Given the description of an element on the screen output the (x, y) to click on. 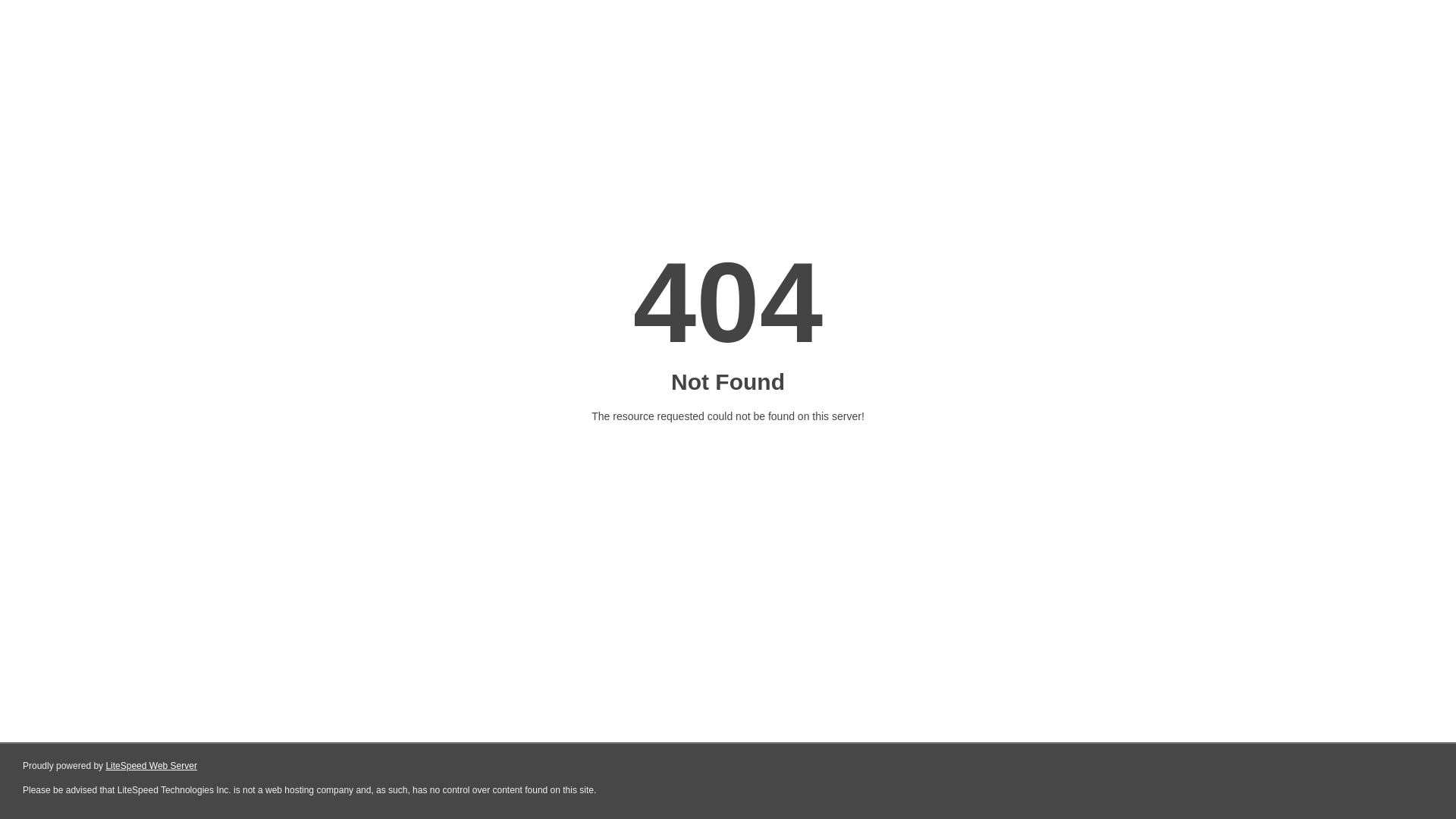
LiteSpeed Web Server Element type: text (151, 765)
